Given the description of an element on the screen output the (x, y) to click on. 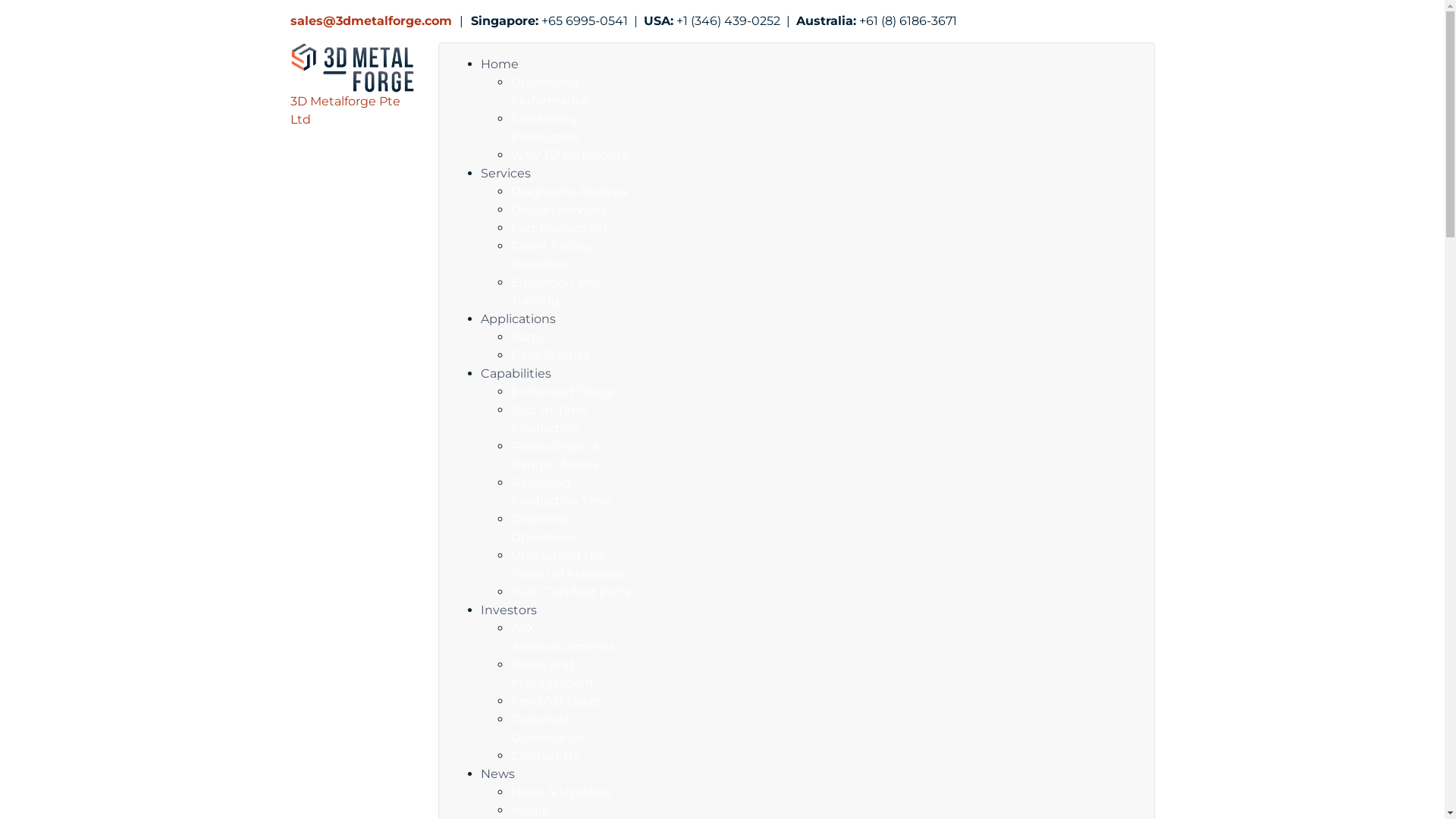
Corporate Governance Element type: text (547, 728)
Media Element type: text (529, 810)
Parts Element type: text (526, 336)
Part Production Element type: text (559, 227)
Producing in a Range of Sizes Element type: text (555, 455)
Capabilities Element type: text (515, 373)
Investors Element type: text (508, 609)
News & Updates Element type: text (561, 791)
Greening Operations Element type: text (544, 527)
Enhanced Design Element type: text (565, 391)
Diagnostic Analysis Element type: text (569, 191)
Case Studies Element type: text (550, 355)
Key 2021 Dates Element type: text (556, 700)
Optimizing Performance Element type: text (550, 91)
Client Facility Operation Element type: text (552, 254)
Applications Element type: text (517, 318)
Contact Us Element type: text (545, 755)
Services Element type: text (505, 173)
Just-In-Time Production Element type: text (549, 418)
Home Element type: text (499, 63)
3D Metalforge Pte Ltd Element type: text (351, 92)
ASX Announcements Element type: text (563, 637)
Enhancing Production Element type: text (545, 127)
sales@3dmetalforge.com Element type: text (370, 20)
Education and Training Element type: text (555, 291)
Reducing Production Time Element type: text (561, 491)
Fully Certified Parts Element type: text (570, 591)
Why 3D Metalforge Element type: text (569, 154)
Design Services Element type: text (559, 209)
Unleashing the Power of Materials Element type: text (566, 564)
Board and Management Element type: text (552, 673)
News Element type: text (497, 773)
